Given the description of an element on the screen output the (x, y) to click on. 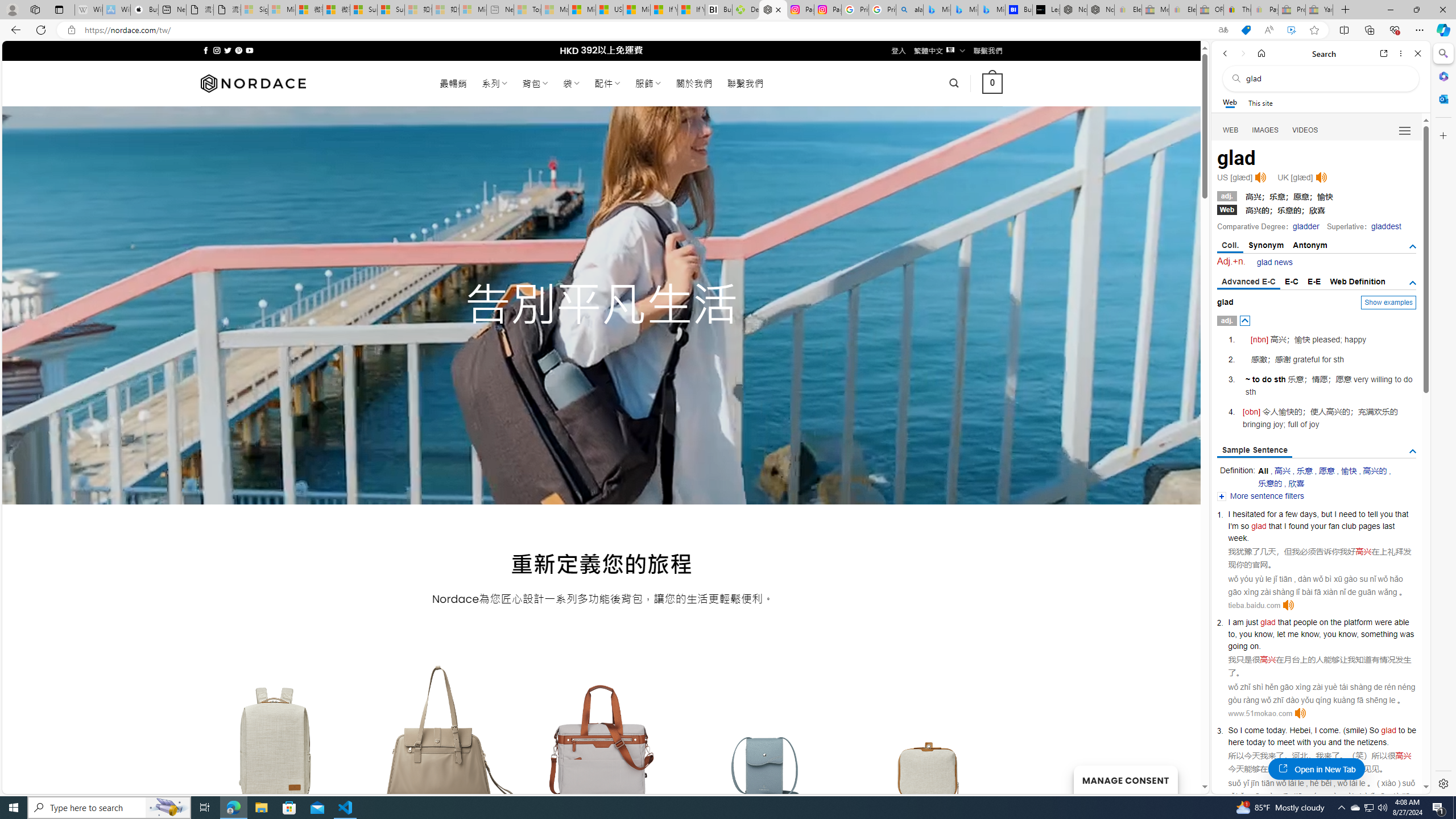
Buy iPad - Apple (144, 9)
smile (1354, 729)
E-C (1291, 281)
with (1304, 741)
. (1285, 729)
Follow on Instagram (216, 50)
More options (1401, 53)
Yard, Garden & Outdoor Living - Sleeping (1319, 9)
This site has coupons! Shopping in Microsoft Edge (1245, 29)
